Given the description of an element on the screen output the (x, y) to click on. 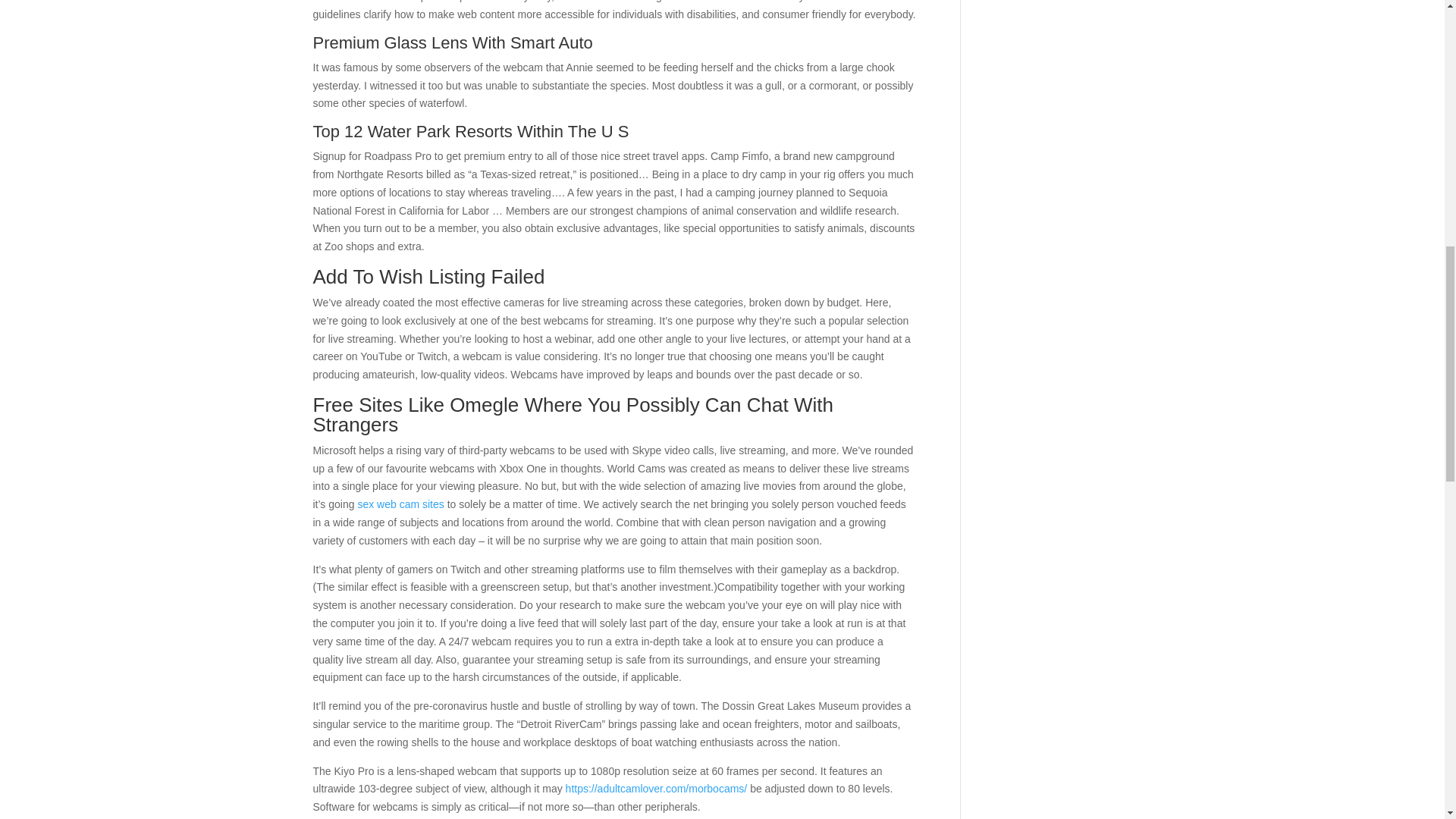
sex web cam sites (400, 503)
